Given the description of an element on the screen output the (x, y) to click on. 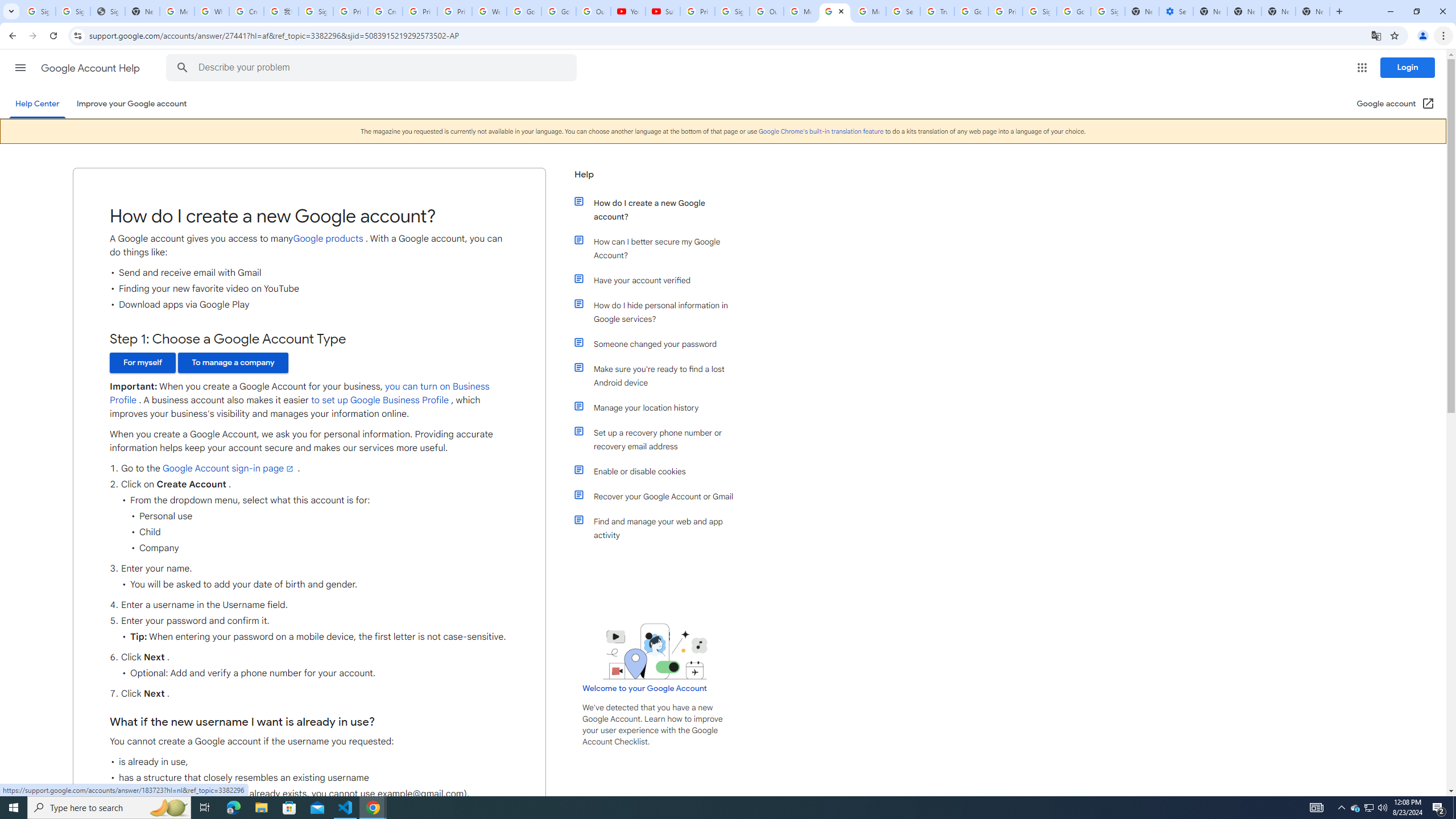
New Tab (1312, 11)
Sign in - Google Accounts (732, 11)
